Given the description of an element on the screen output the (x, y) to click on. 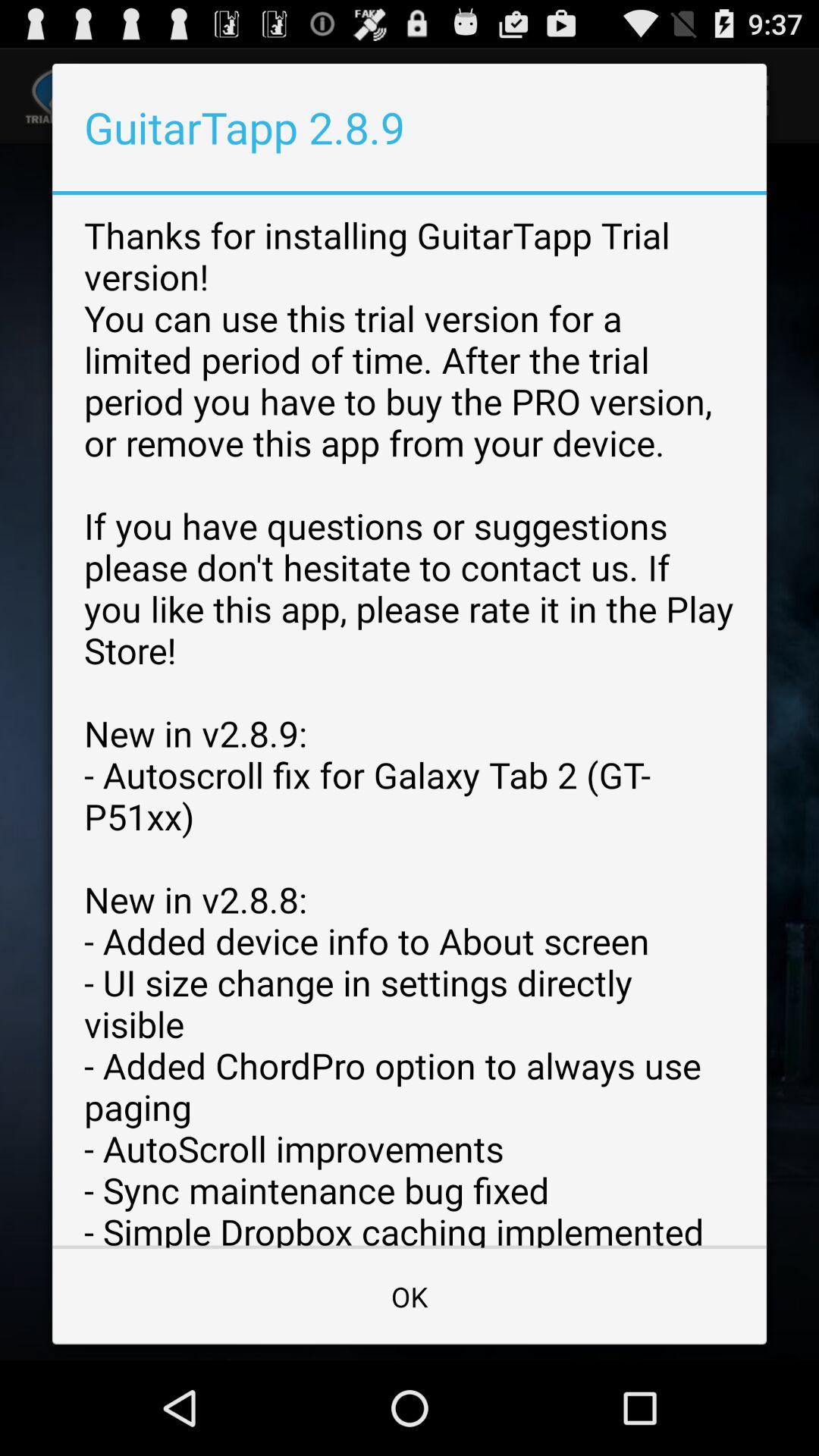
click ok at the bottom (409, 1296)
